Given the description of an element on the screen output the (x, y) to click on. 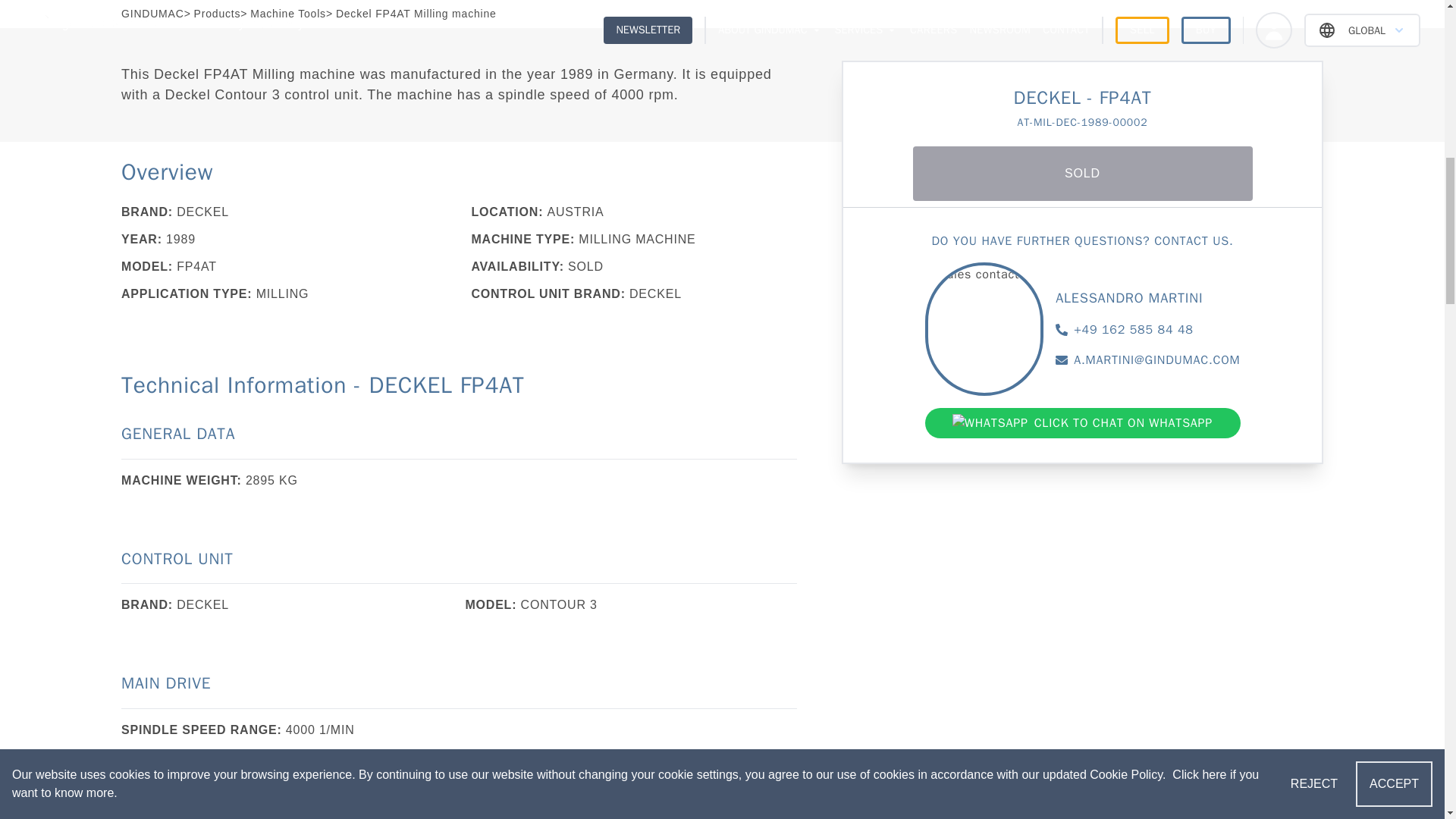
CLICK TO CHAT ON WHATSAPP (1082, 362)
Products (217, 13)
GINDUMAC (152, 13)
Machine Tools (288, 13)
